Given the description of an element on the screen output the (x, y) to click on. 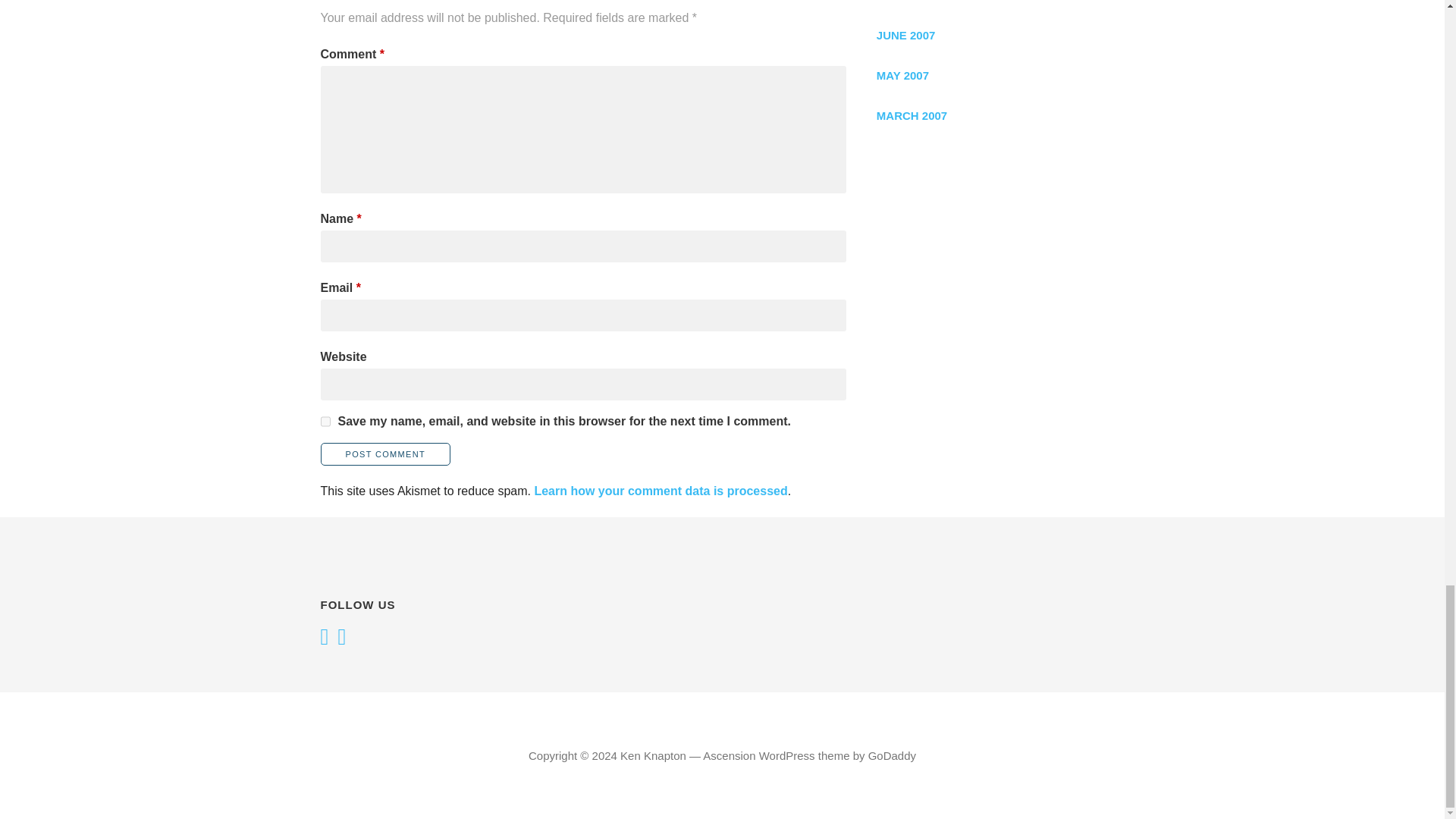
Post Comment (384, 454)
Post Comment (384, 454)
Learn how your comment data is processed (660, 490)
